Given the description of an element on the screen output the (x, y) to click on. 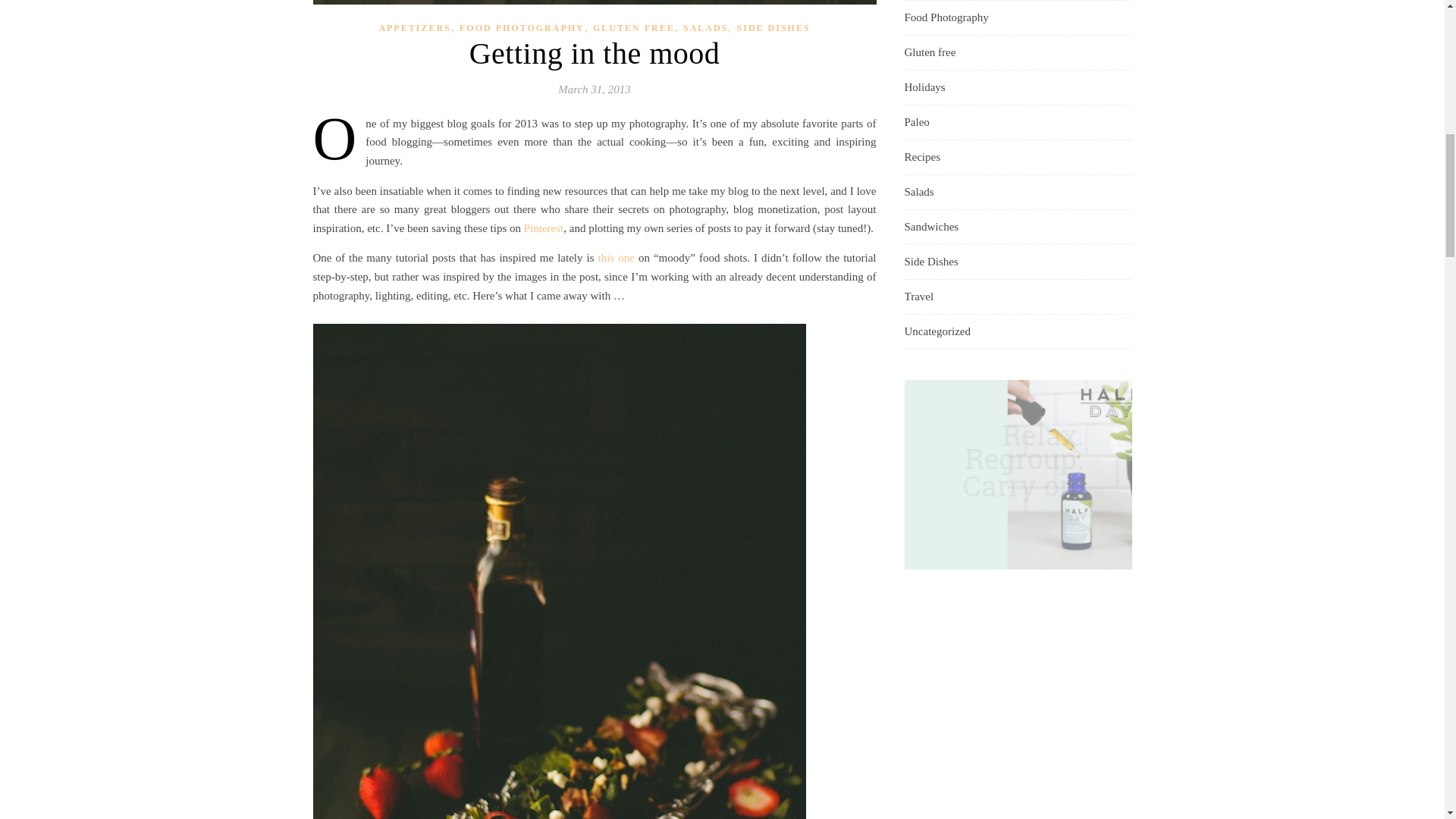
SIDE DISHES (773, 27)
Pinterest (544, 227)
this one (616, 257)
GLUTEN FREE (633, 27)
SALADS (705, 27)
APPETIZERS (413, 27)
FOOD PHOTOGRAPHY (522, 27)
